Given the description of an element on the screen output the (x, y) to click on. 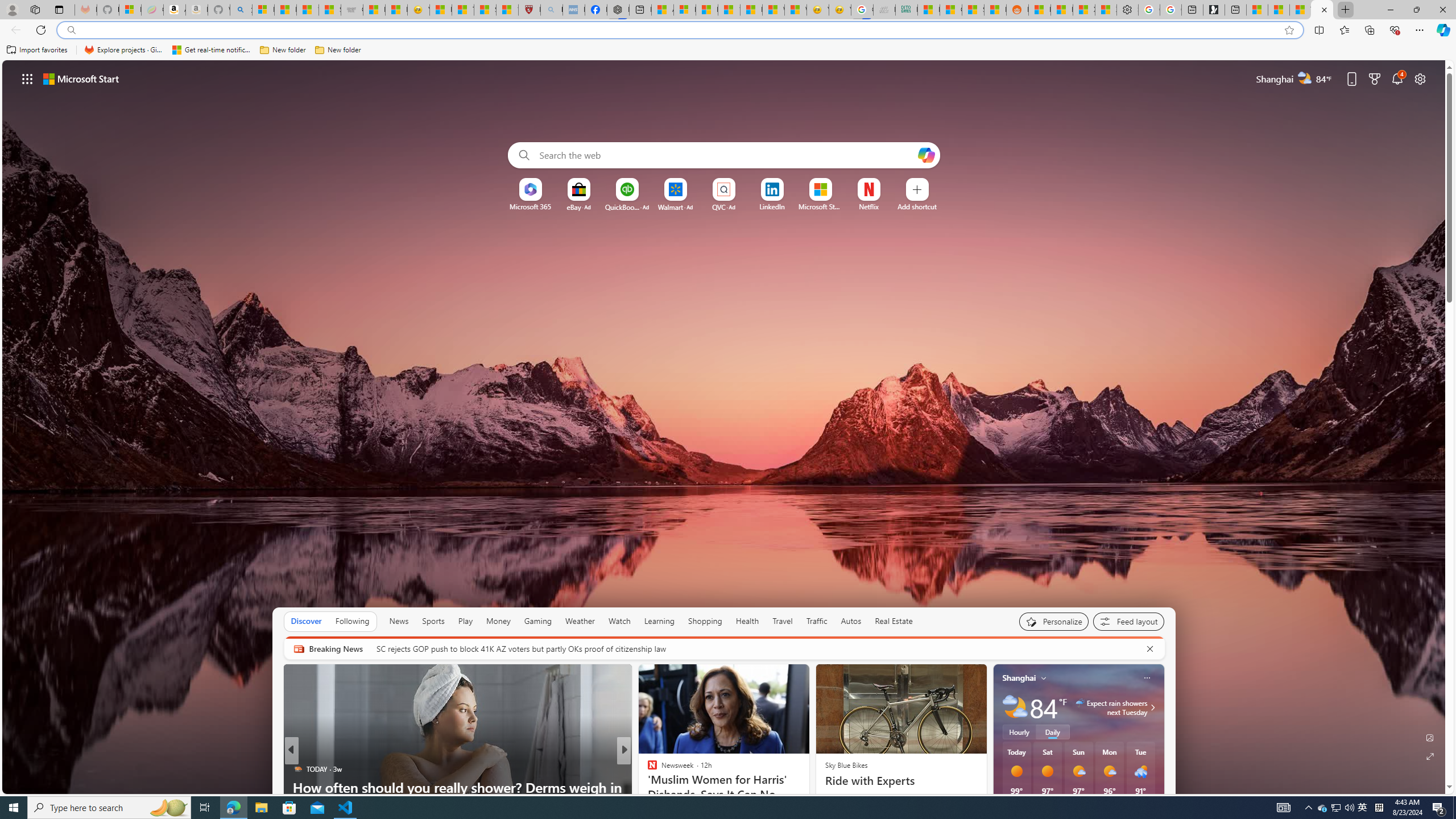
Health (746, 621)
Money (498, 621)
Recipes - MSN (441, 9)
Watch (619, 621)
Watch (619, 621)
Enter your search term (726, 155)
Autos (850, 621)
Stocks - MSN (972, 9)
These 3 Stocks Pay You More Than 5% to Own Them (1300, 9)
Favorites bar (728, 49)
Daily (1052, 731)
